Given the description of an element on the screen output the (x, y) to click on. 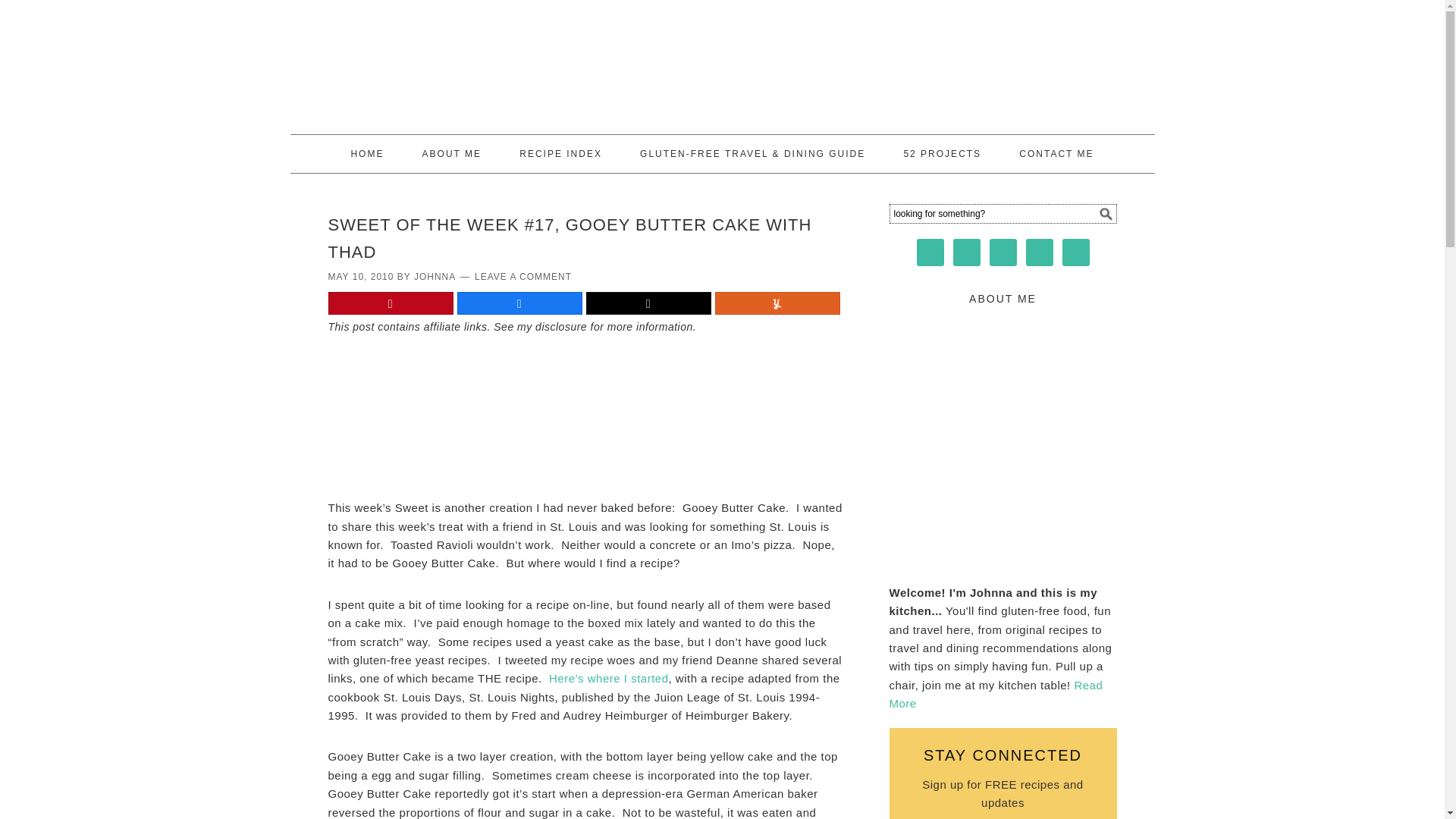
Read More (995, 694)
52 PROJECTS (941, 153)
HOME (366, 153)
RECIPE INDEX (560, 153)
ABOUT ME (451, 153)
CONTACT ME (1056, 153)
JOHNNA (434, 276)
